Given the description of an element on the screen output the (x, y) to click on. 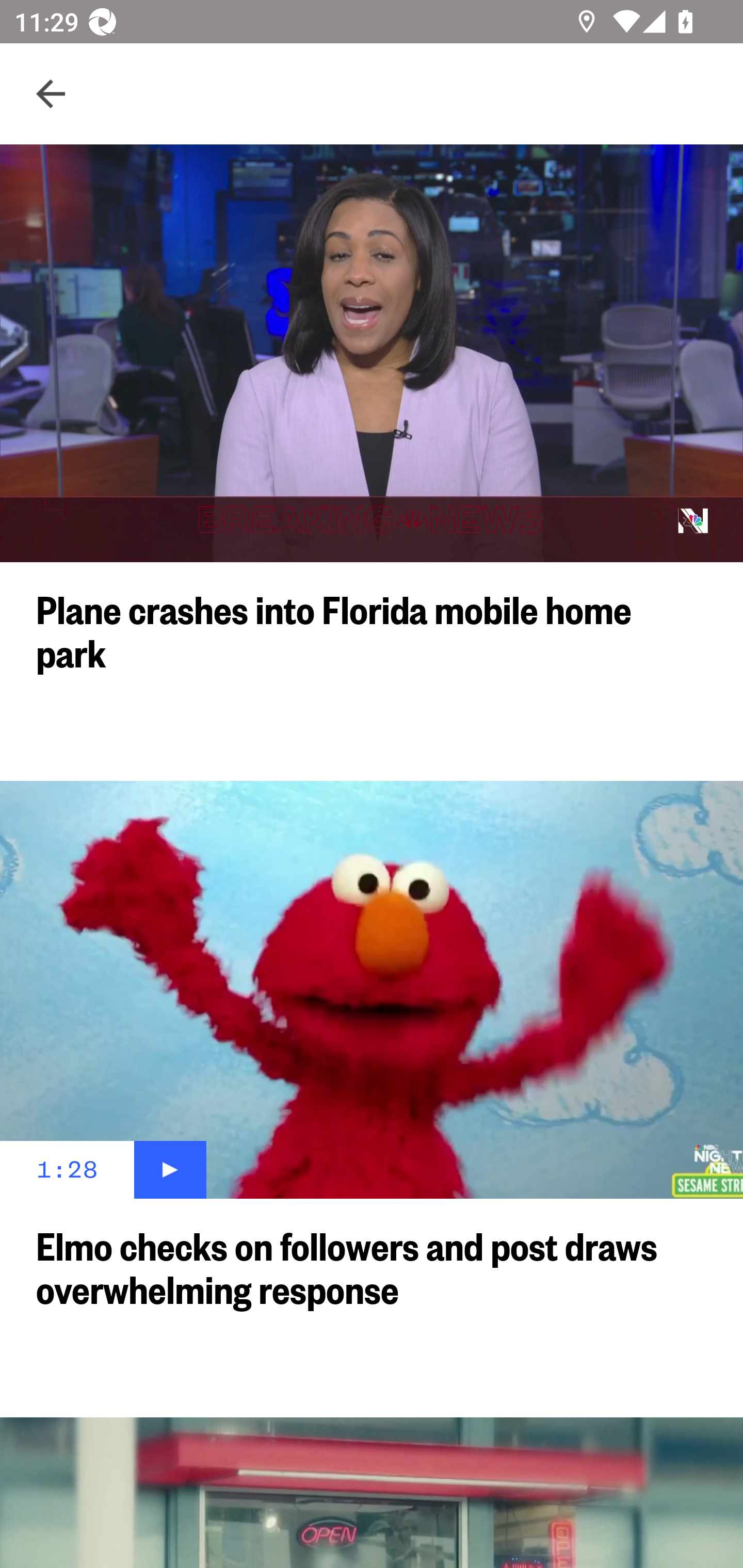
Navigate up (50, 93)
Video, Plane crashes into Florida mobile home park (371, 353)
